Given the description of an element on the screen output the (x, y) to click on. 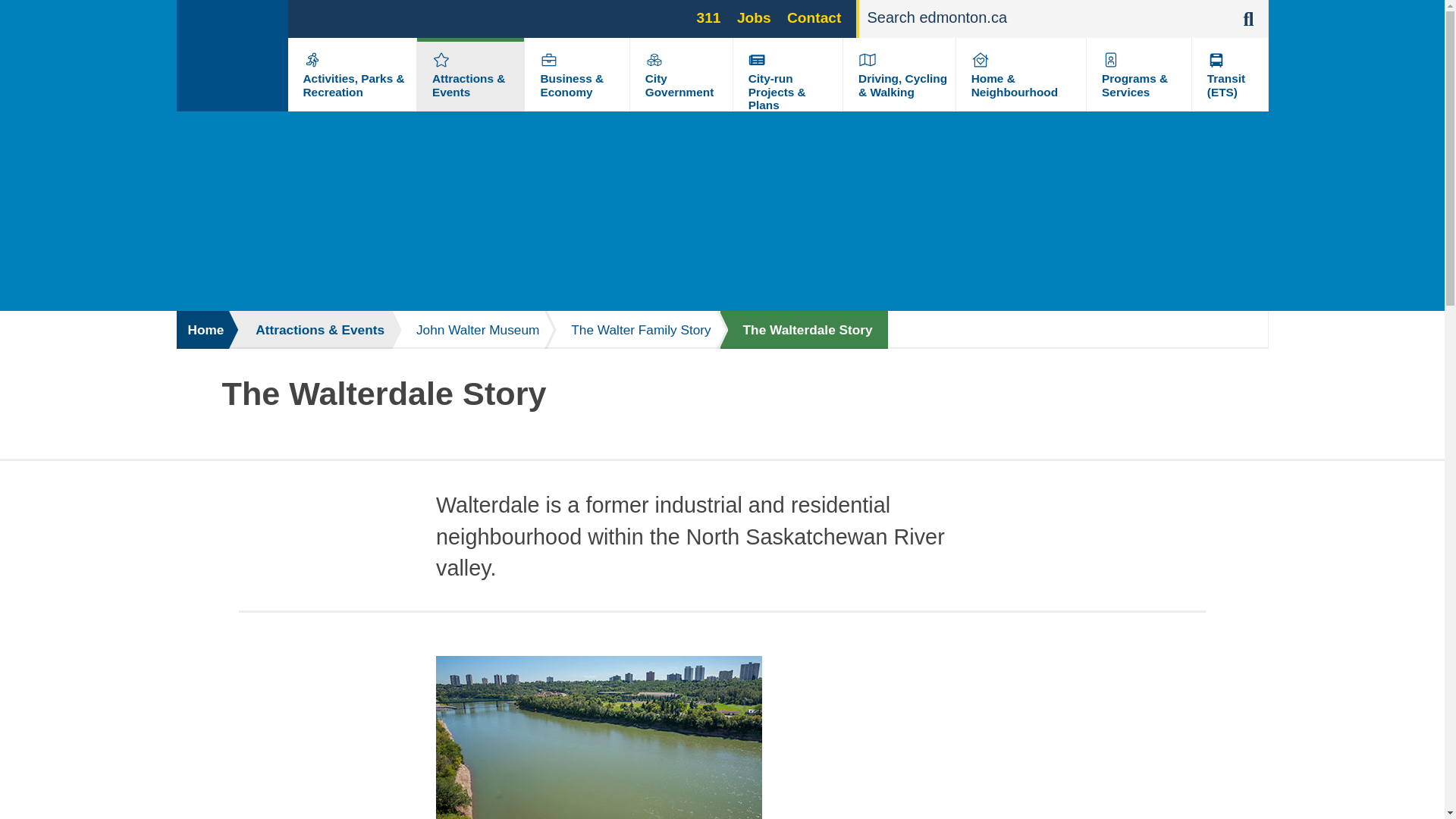
Home (203, 329)
The Walter Family Story (633, 329)
Jobs (753, 17)
John Walter Museum (470, 329)
Contact (814, 17)
The Walterdale Story (804, 329)
311 (708, 17)
City Government (679, 85)
